Given the description of an element on the screen output the (x, y) to click on. 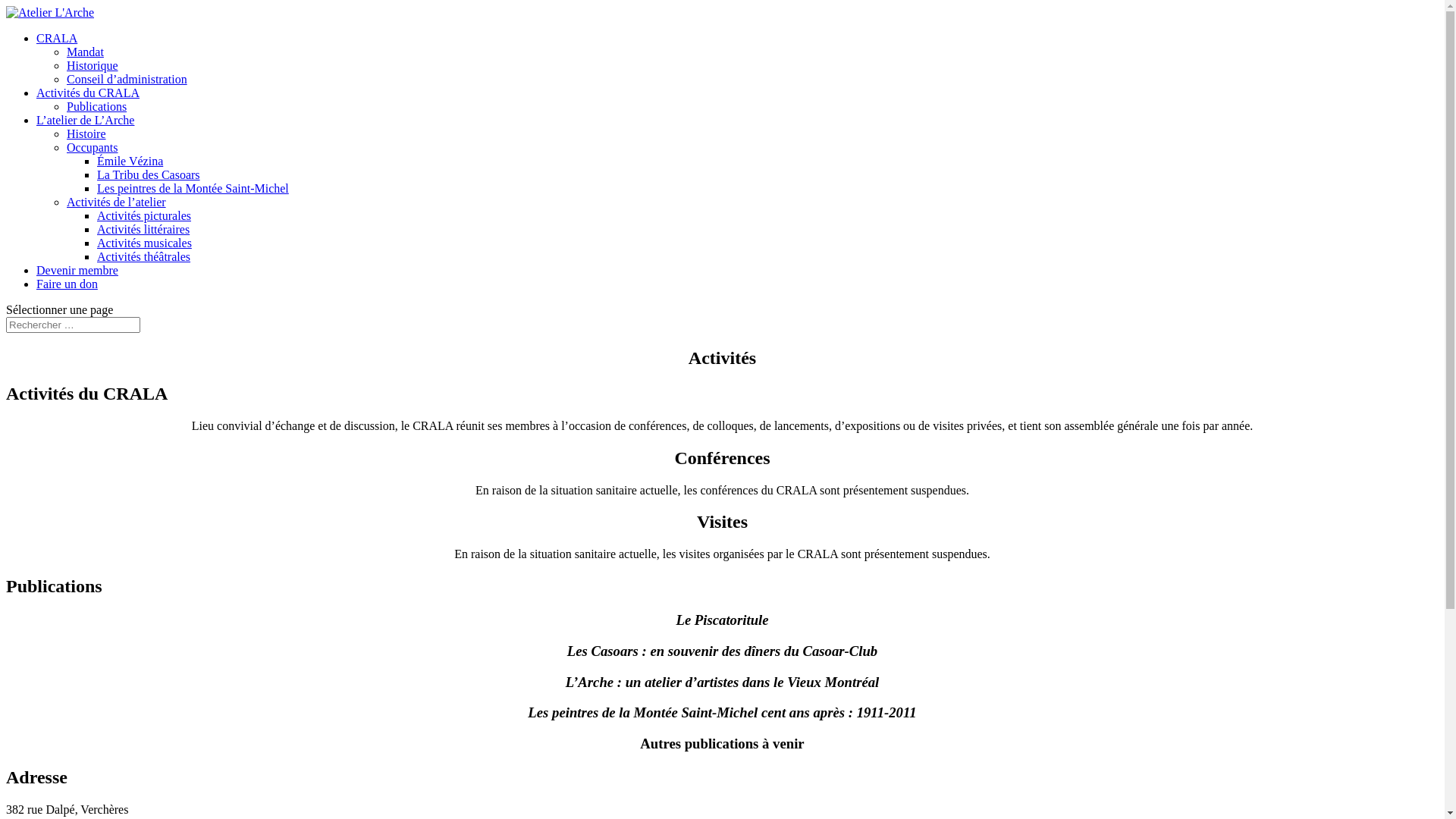
La Tribu des Casoars Element type: text (148, 174)
CRALA Element type: text (56, 37)
Publications Element type: text (96, 106)
Faire un don Element type: text (66, 283)
Historique Element type: text (92, 65)
Mandat Element type: text (84, 51)
Occupants Element type: text (92, 147)
Devenir membre Element type: text (77, 269)
Rechercher: Element type: hover (73, 324)
Histoire Element type: text (86, 133)
